Given the description of an element on the screen output the (x, y) to click on. 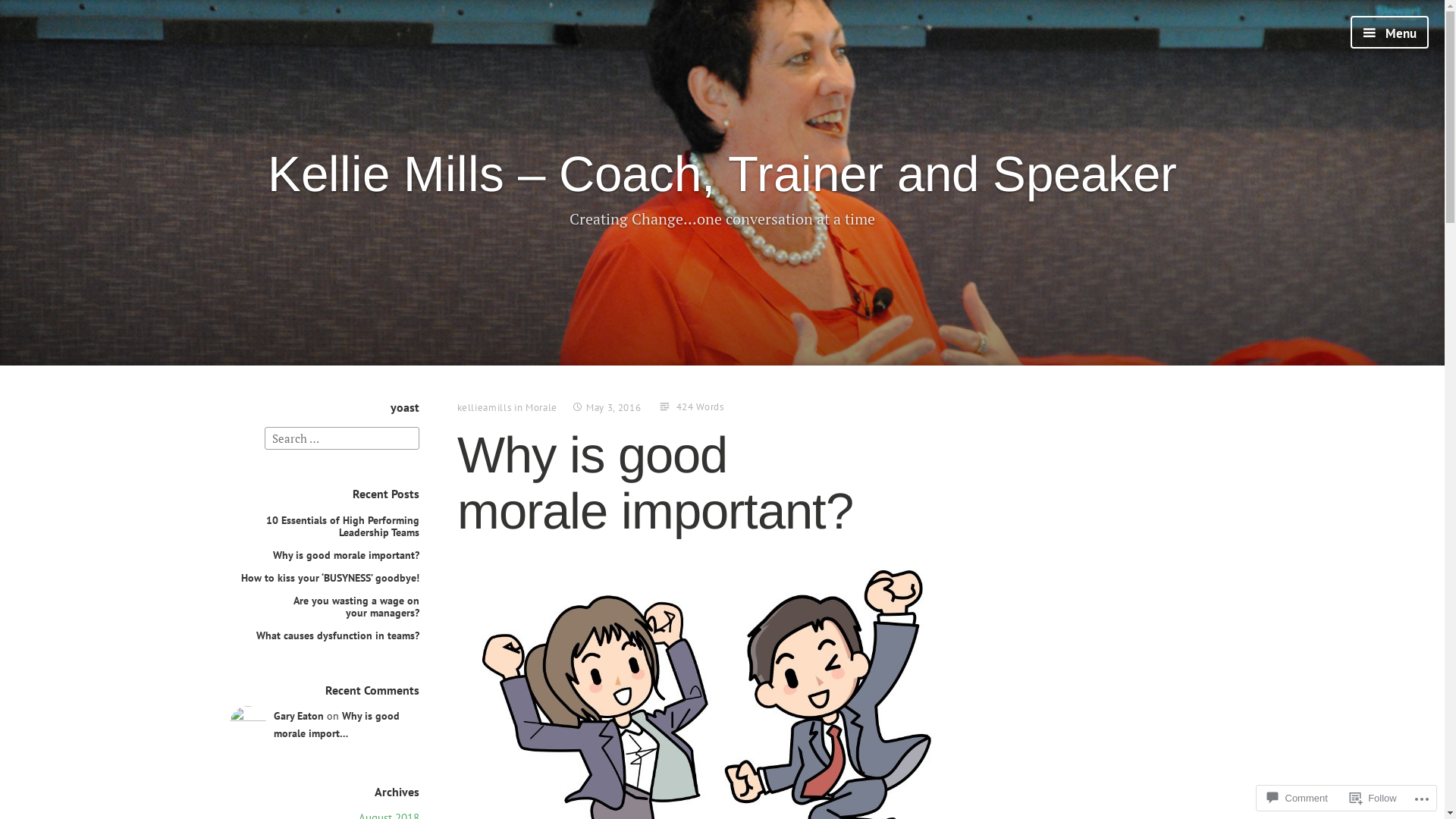
Gary Eaton Element type: hover (247, 724)
Why is good morale important? Element type: text (346, 554)
Gary Eaton Element type: text (298, 715)
Morale Element type: text (541, 407)
Search Element type: text (29, 14)
Are you wasting a wage on your managers? Element type: text (355, 606)
Menu Element type: text (1389, 31)
Comment Element type: text (1296, 797)
kellieamills Element type: text (483, 407)
What causes dysfunction in teams? Element type: text (337, 634)
Follow Element type: text (1372, 797)
10 Essentials of High Performing Leadership Teams Element type: text (341, 525)
